Given the description of an element on the screen output the (x, y) to click on. 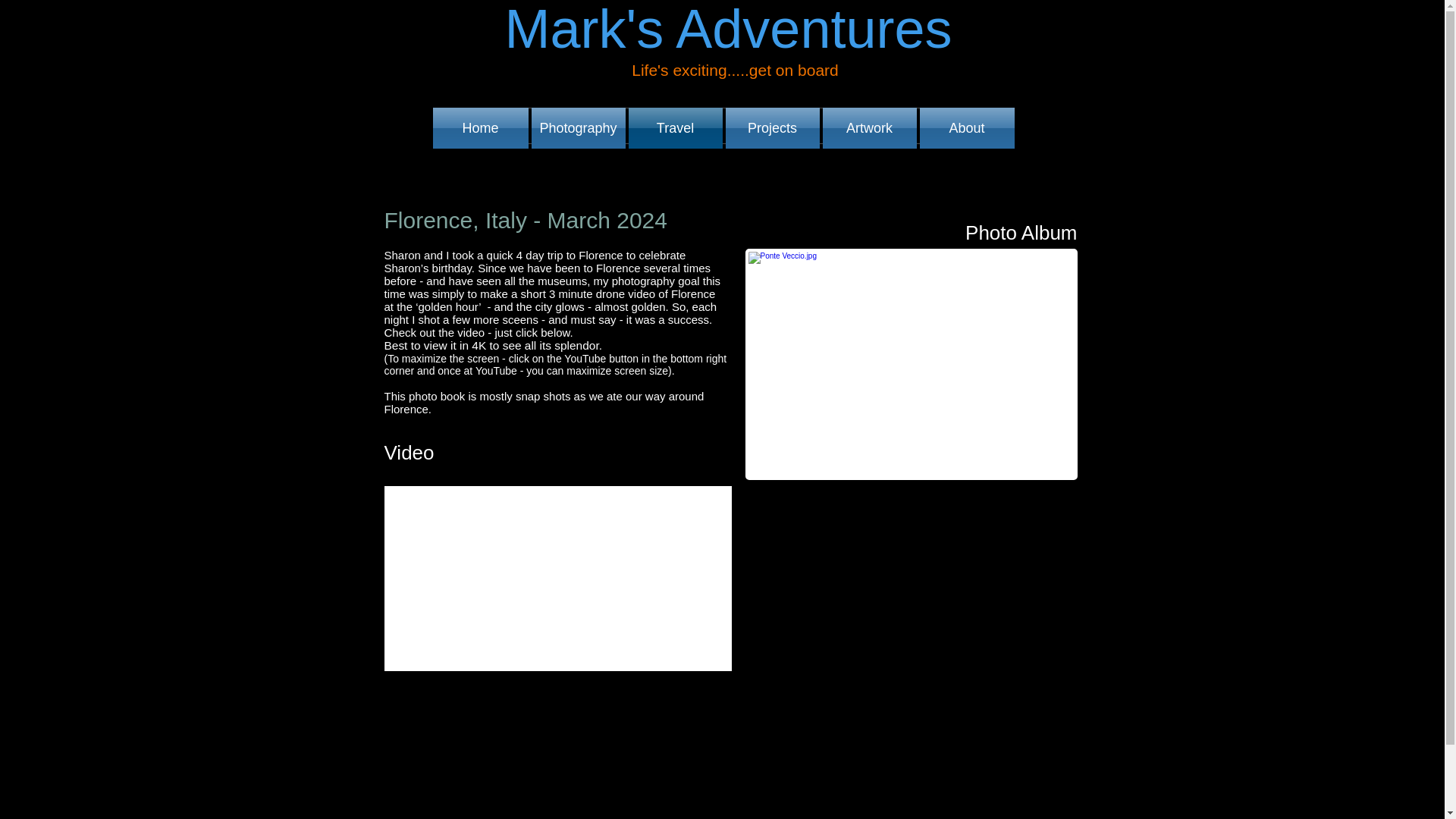
External YouTube (558, 578)
Photography (577, 127)
Home (480, 127)
Travel (674, 127)
